Given the description of an element on the screen output the (x, y) to click on. 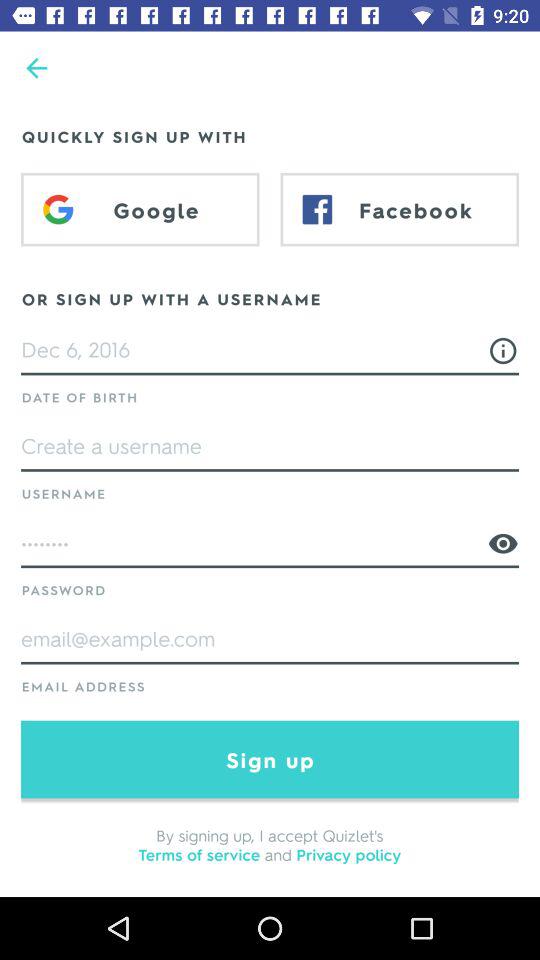
turn off item next to the google item (399, 209)
